Given the description of an element on the screen output the (x, y) to click on. 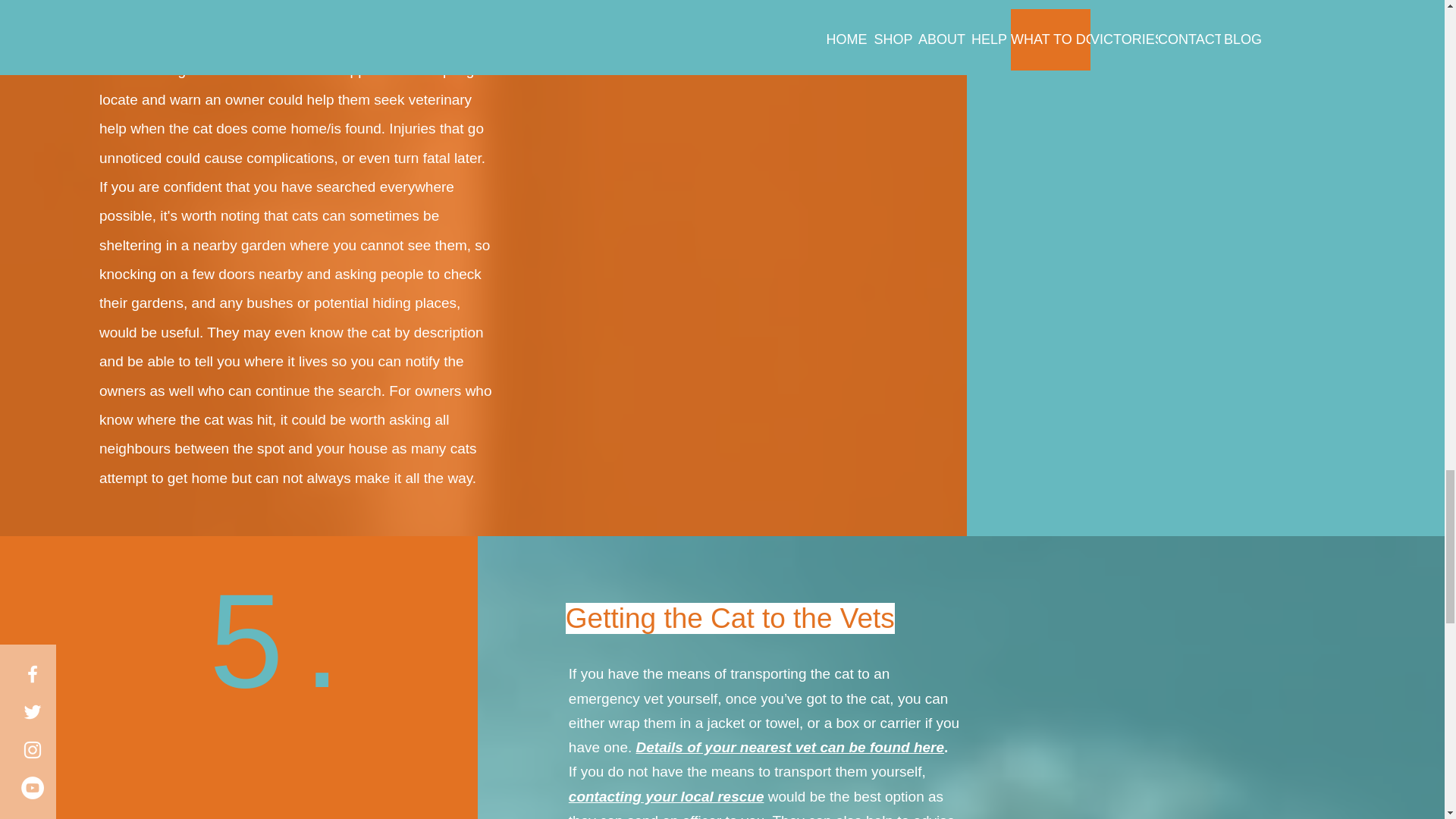
contacting your local rescue (666, 796)
Details of your nearest vet can be found here (790, 747)
